Given the description of an element on the screen output the (x, y) to click on. 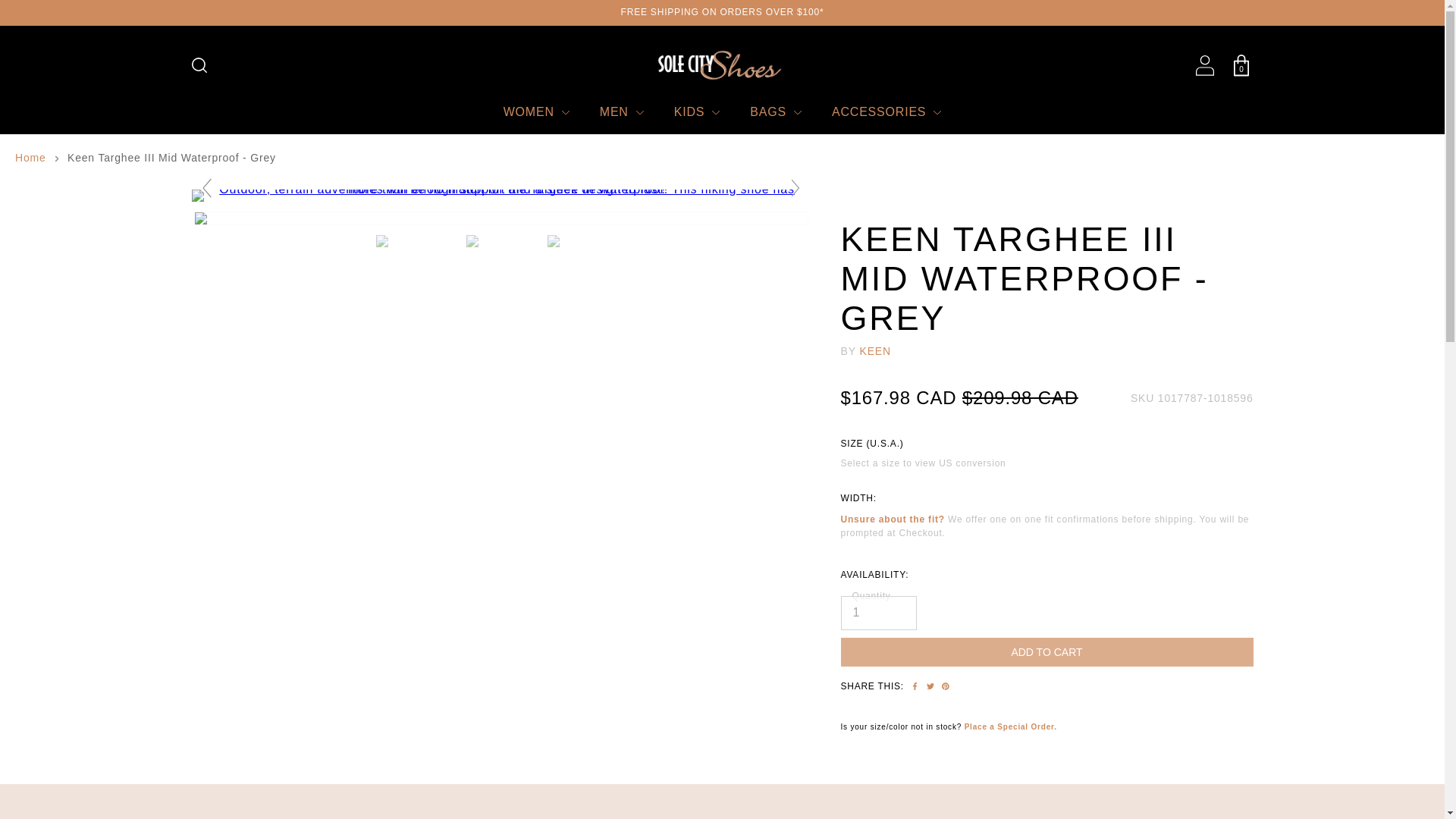
Left View (501, 241)
Search (198, 64)
Front View (415, 241)
Open Cart (1240, 65)
Back View (586, 241)
Home (30, 157)
Account (1203, 65)
Sole City Shoes (722, 65)
